Given the description of an element on the screen output the (x, y) to click on. 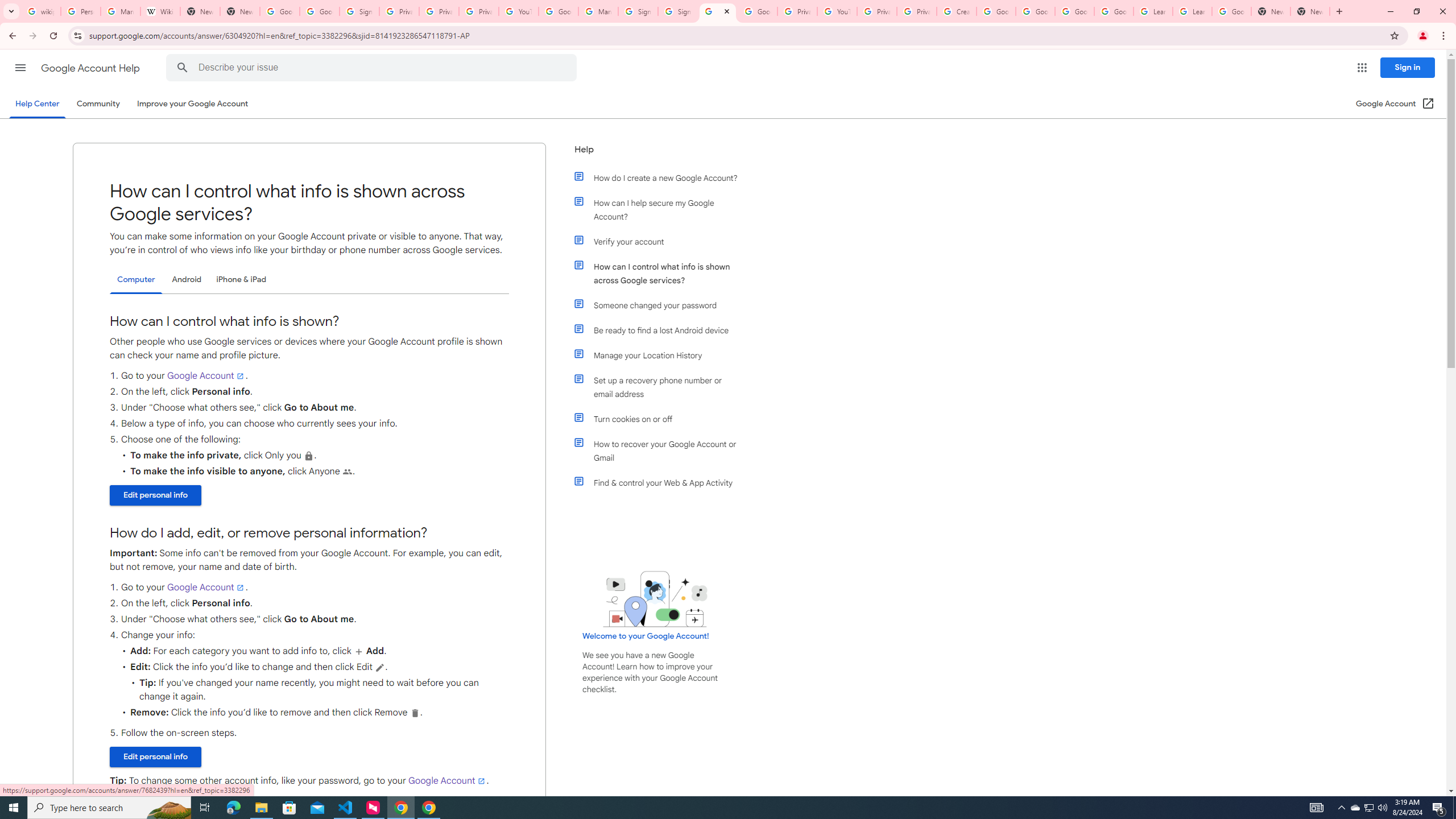
Improve your Google Account (192, 103)
Edit (379, 667)
Someone changed your password (661, 305)
Sign in - Google Accounts (637, 11)
iPhone & iPad (240, 279)
YouTube (836, 11)
New Tab (1270, 11)
How can I help secure my Google Account? (661, 209)
Wikipedia:Edit requests - Wikipedia (159, 11)
